Given the description of an element on the screen output the (x, y) to click on. 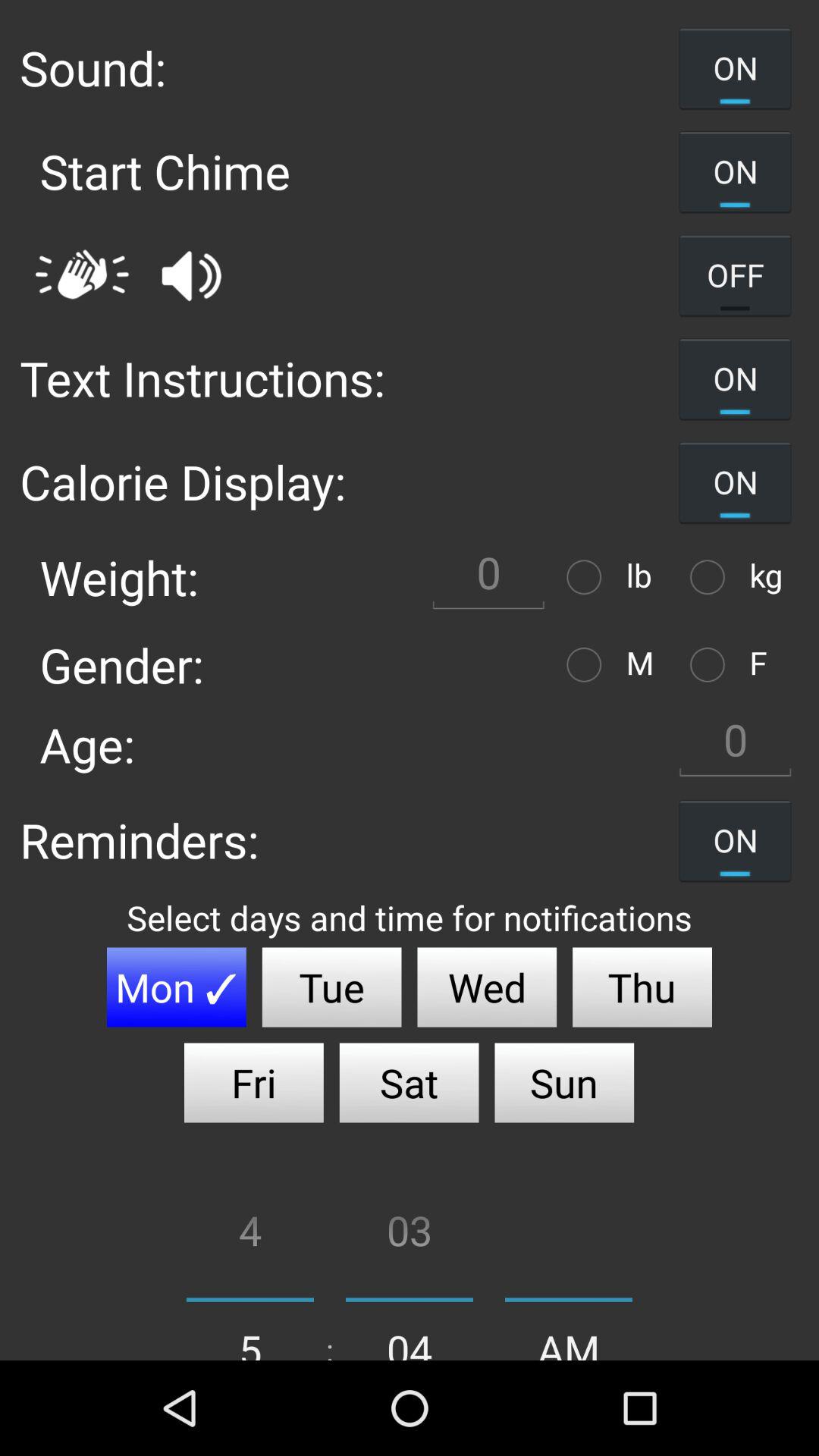
choose pounds (587, 577)
